Given the description of an element on the screen output the (x, y) to click on. 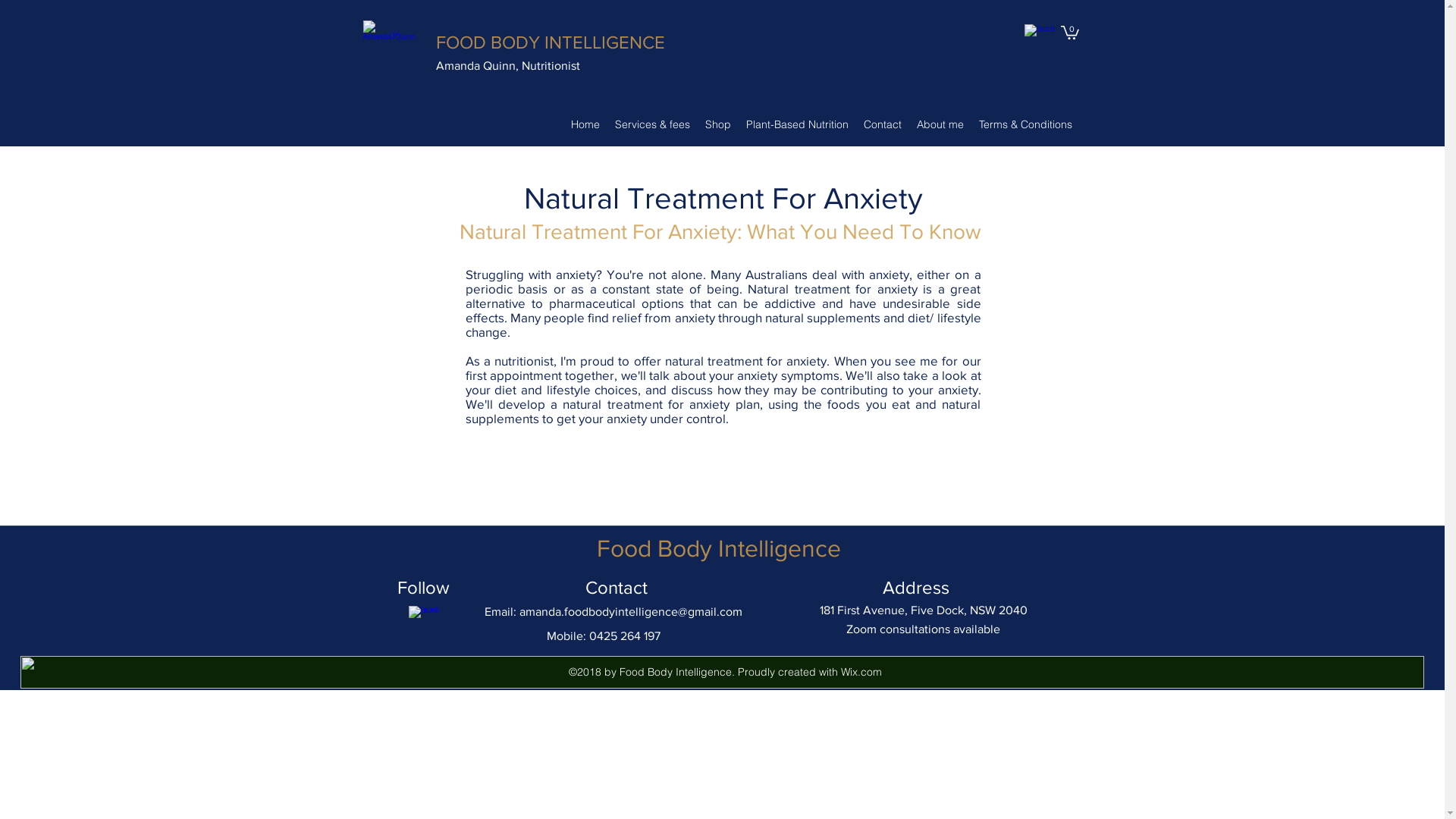
Contact Element type: text (881, 123)
Terms & Conditions Element type: text (1024, 123)
Shop Element type: text (717, 123)
Plant-Based Nutrition Element type: text (797, 123)
About me Element type: text (939, 123)
0 Element type: text (1069, 31)
Home Element type: text (584, 123)
Services & fees Element type: text (651, 123)
amanda.foodbodyintelligence@gmail.com Element type: text (629, 611)
